Given the description of an element on the screen output the (x, y) to click on. 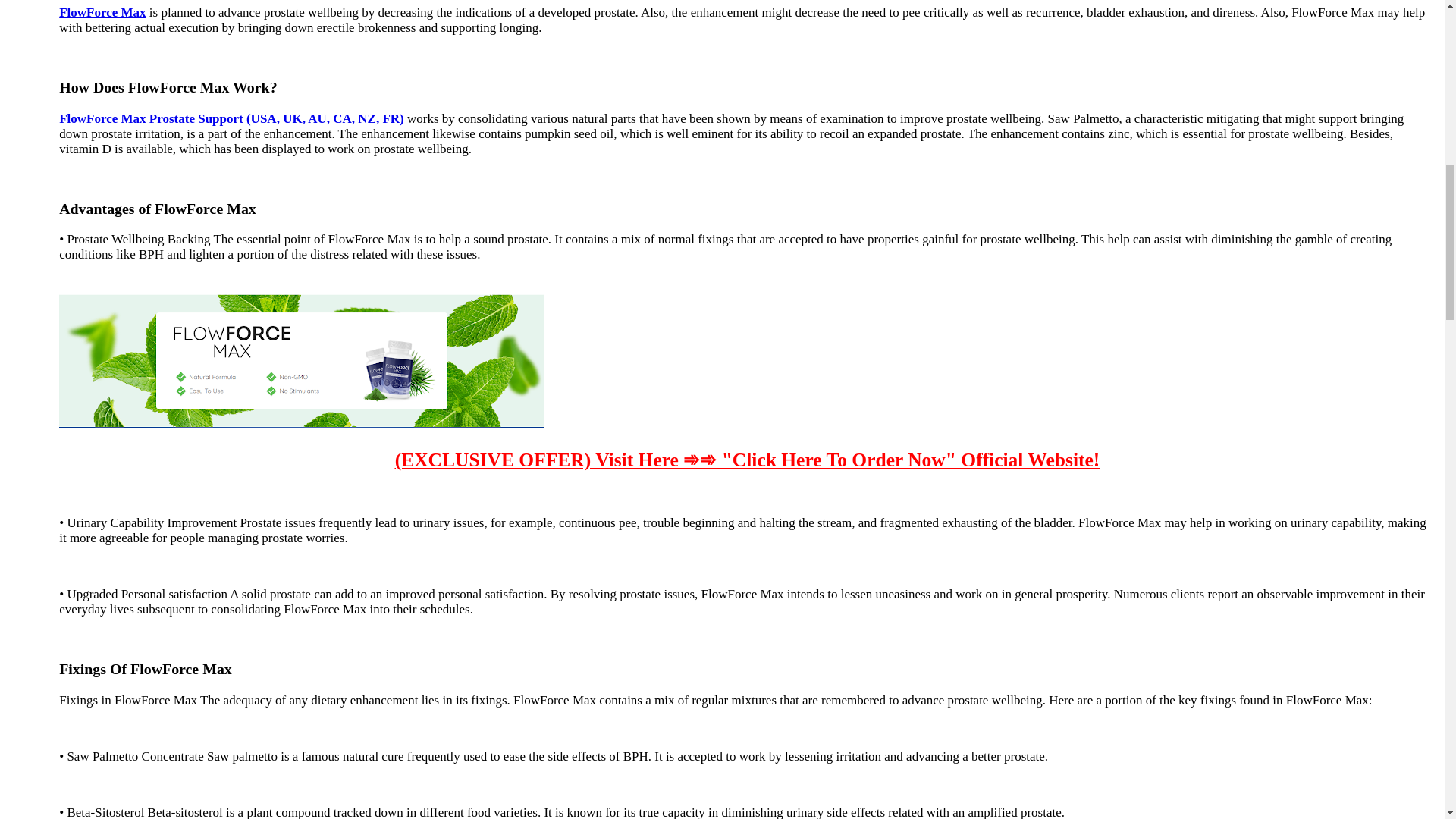
FlowForce Max (102, 11)
